Given the description of an element on the screen output the (x, y) to click on. 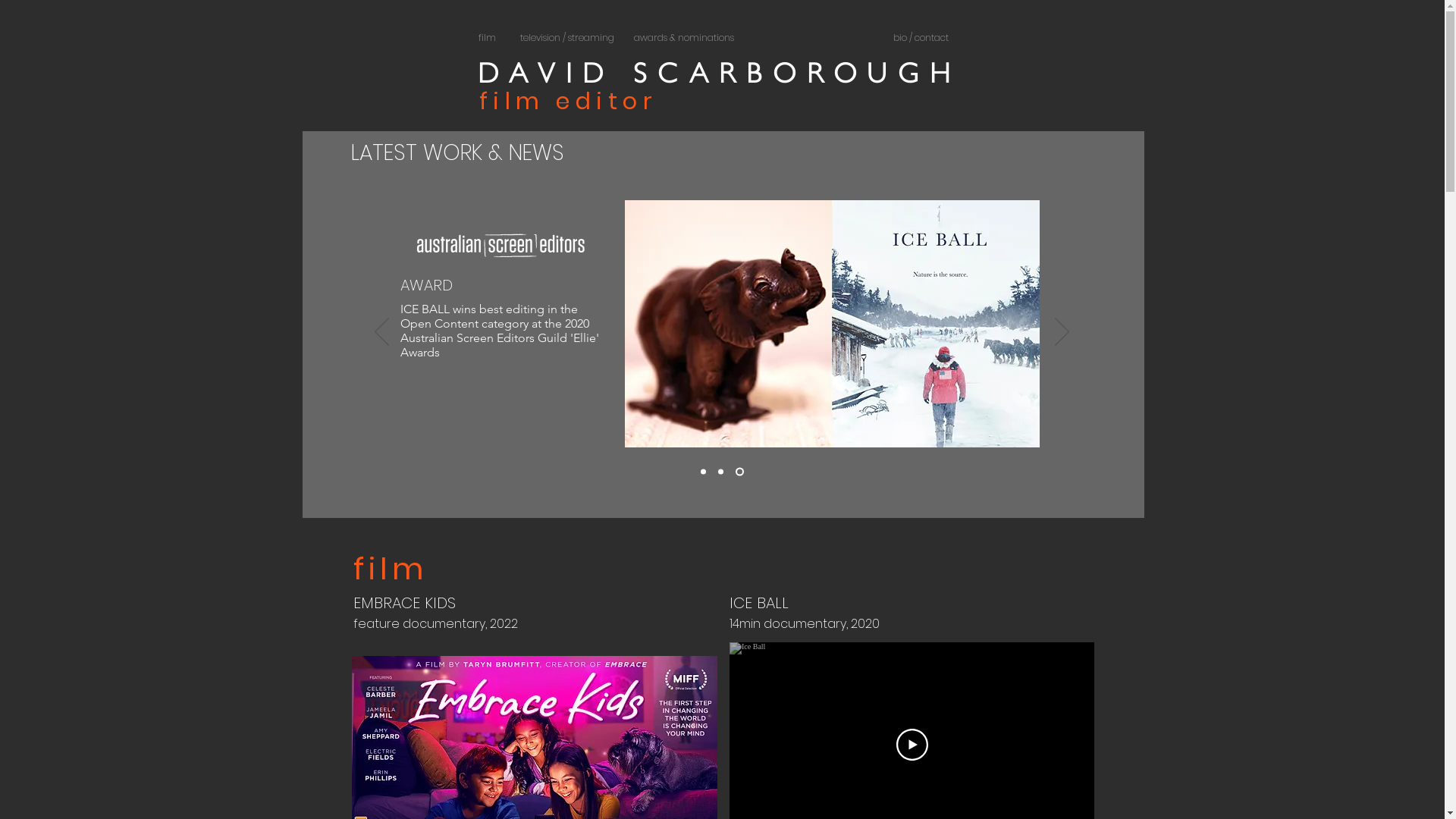
awards & nominations Element type: text (683, 37)
bio / contact Element type: text (920, 37)
film Element type: text (486, 37)
DAVID SCARBOROUGH Element type: text (719, 73)
television / streaming Element type: text (566, 37)
